Given the description of an element on the screen output the (x, y) to click on. 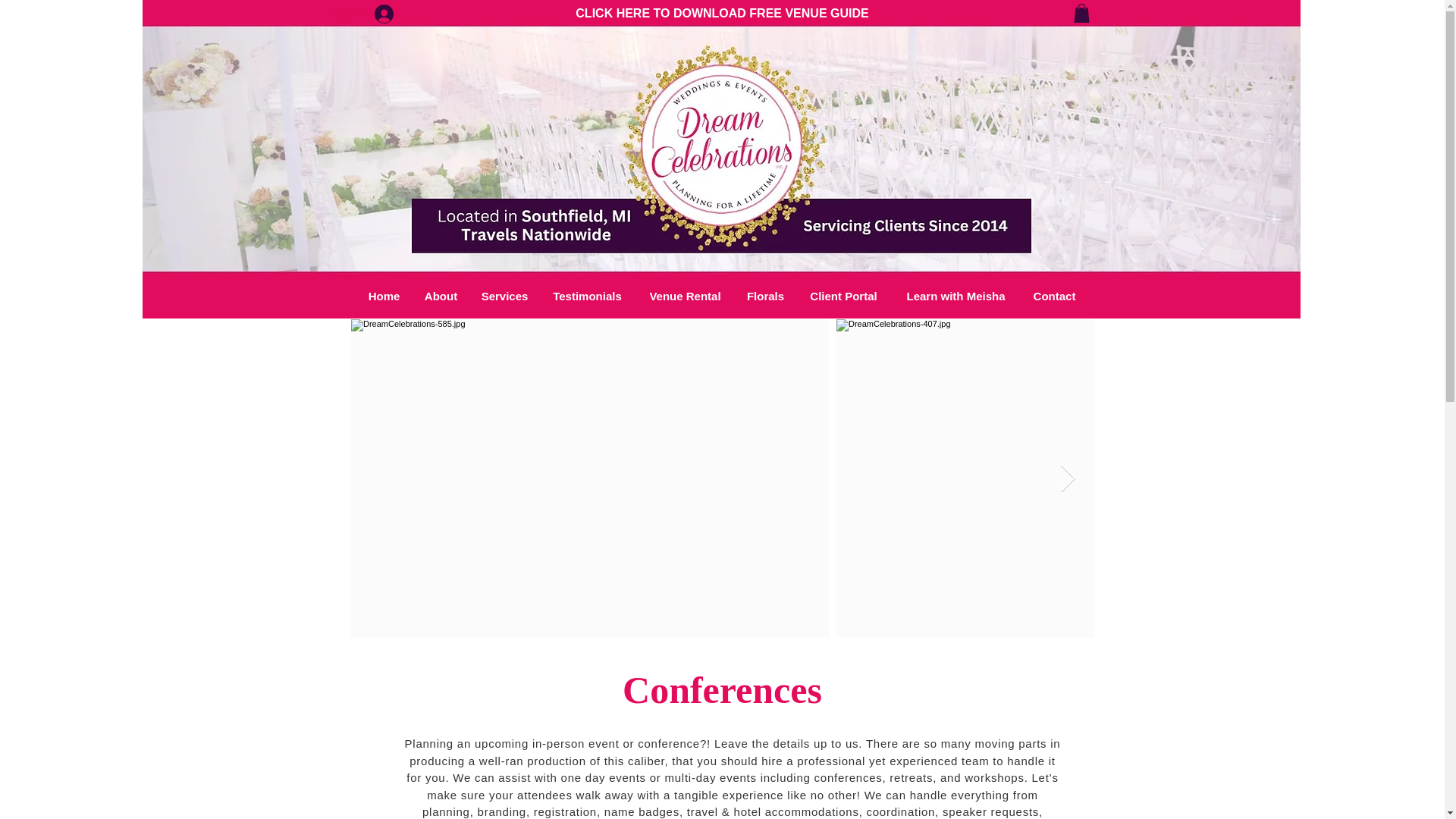
Home (384, 296)
Learn with Meisha (955, 296)
Florals (765, 296)
Log In (382, 13)
About (441, 296)
CLICK HERE TO DOWNLOAD FREE VENUE GUIDE (721, 12)
Client Portal (843, 296)
Venue Rental (684, 296)
Services (505, 296)
Contact (1054, 296)
